Given the description of an element on the screen output the (x, y) to click on. 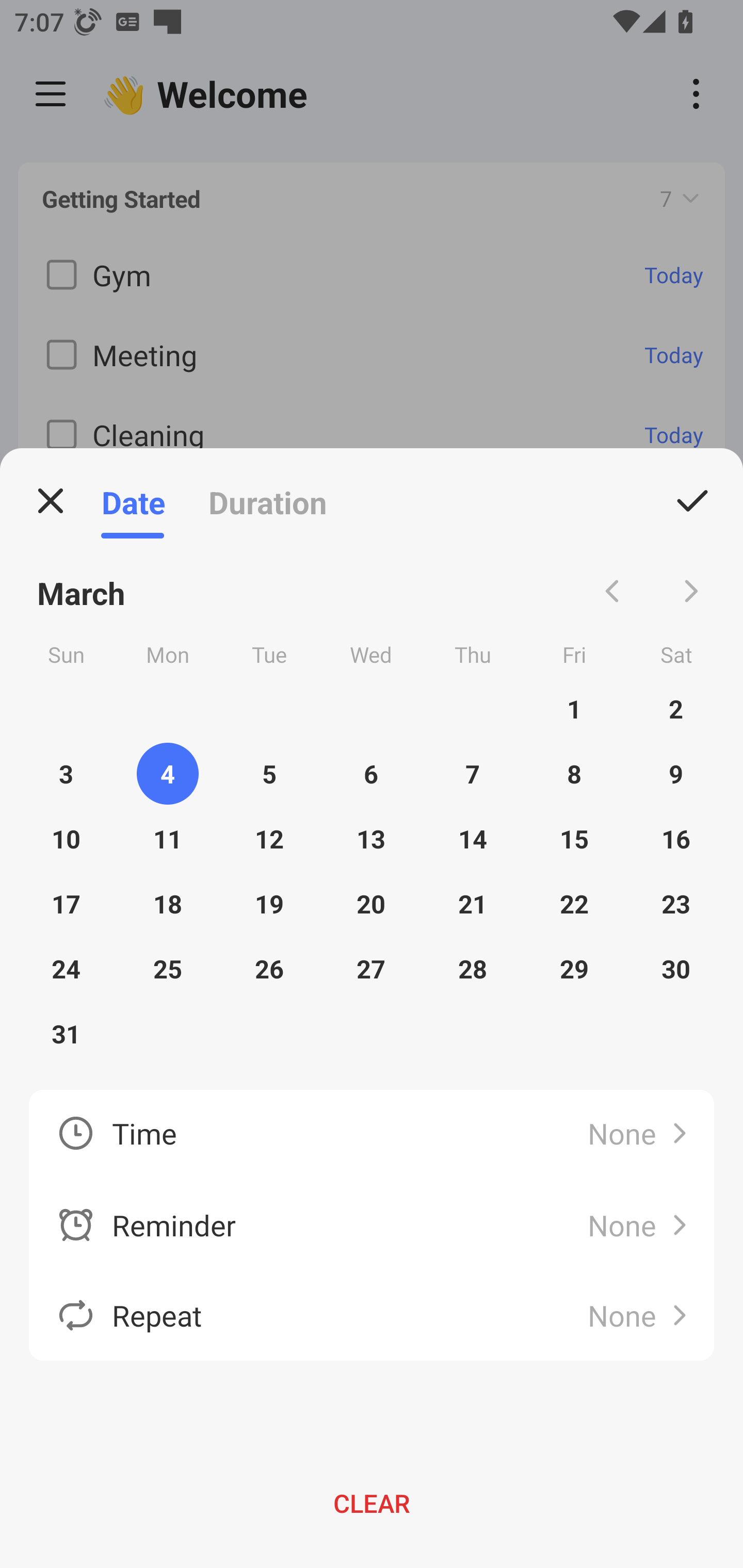
Duration (267, 501)
March (81, 591)
Time None (371, 1134)
Reminder None (371, 1225)
Repeat None (371, 1315)
CLEAR (371, 1502)
